Given the description of an element on the screen output the (x, y) to click on. 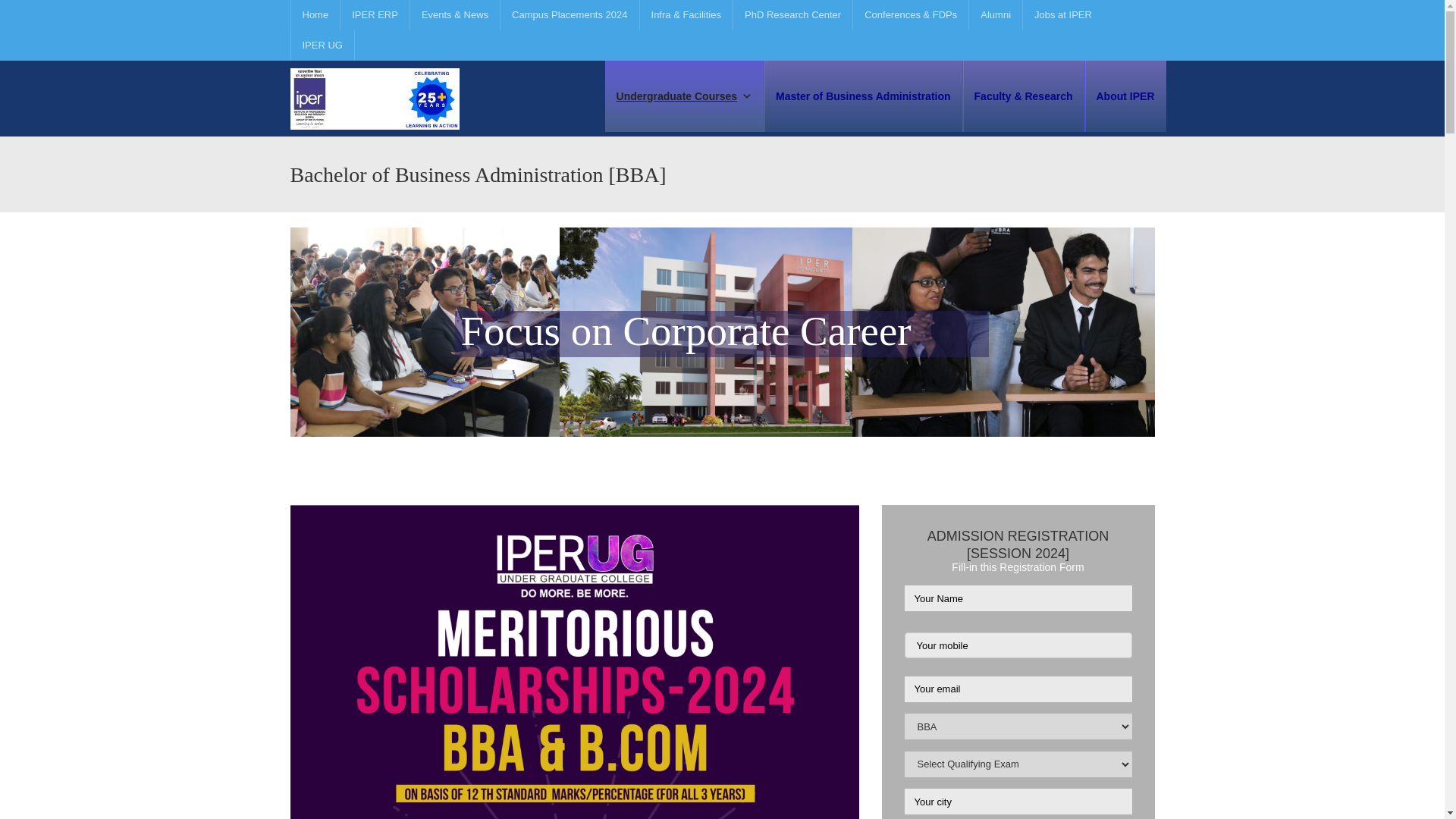
Master of Business Administration (863, 95)
About IPER (1125, 95)
Jobs at IPER (1062, 15)
Alumni (995, 15)
IPER UG (321, 45)
Home (314, 15)
Undergraduate Courses (683, 95)
Campus Placements 2024 (569, 15)
PhD Research Center (791, 15)
IPER ERP (374, 15)
